Given the description of an element on the screen output the (x, y) to click on. 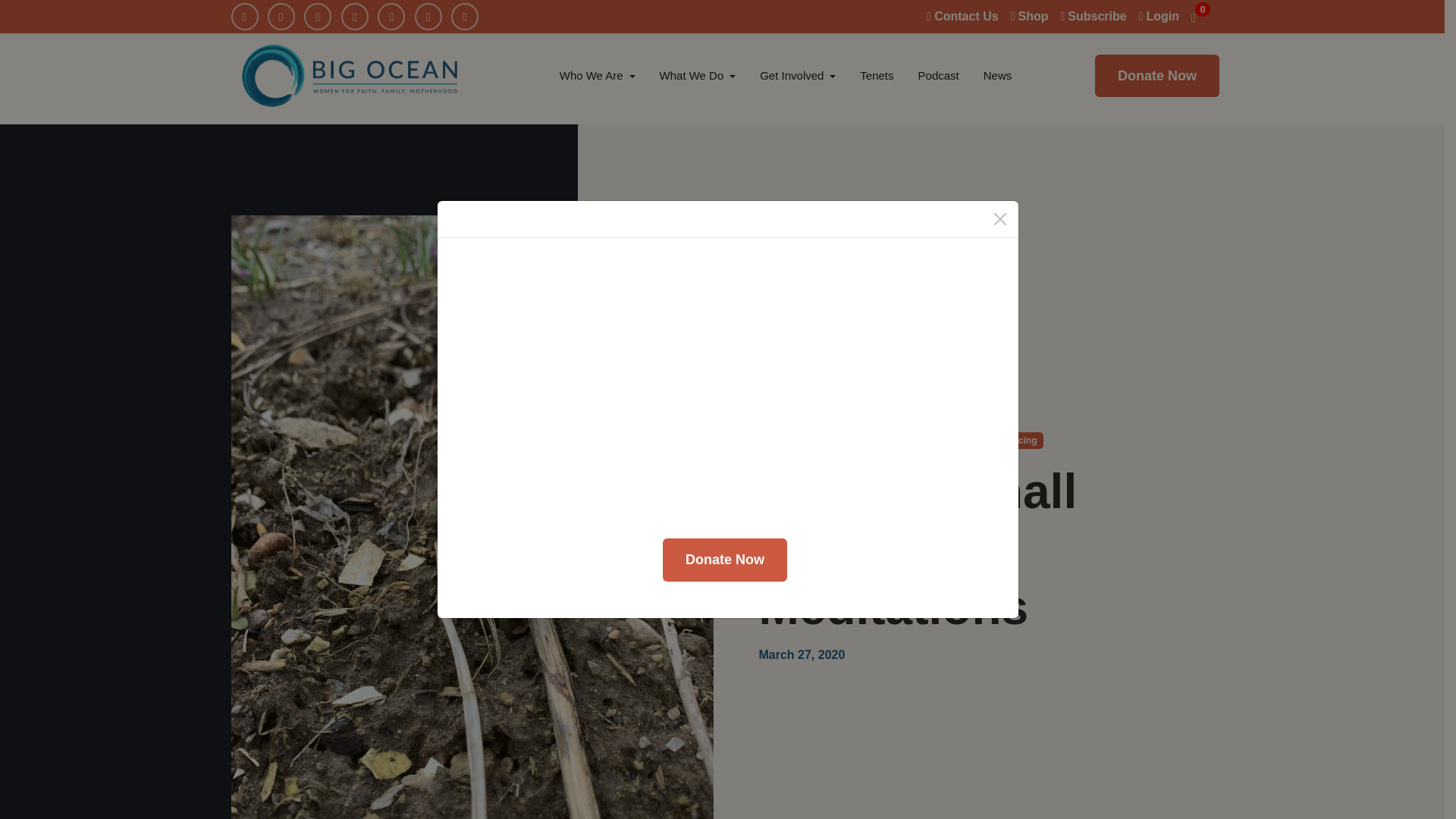
Who We Are (597, 76)
Shop (1029, 16)
Podcast (938, 76)
Get Involved (797, 76)
Podcast (938, 76)
Tenets (876, 76)
View your shopping cart (1201, 15)
Tenets (876, 76)
Contact Us (961, 16)
News (998, 76)
Subscribe (1092, 16)
0 (1201, 15)
Who We Are (597, 76)
What We Do (697, 76)
Get Involved (797, 76)
